Given the description of an element on the screen output the (x, y) to click on. 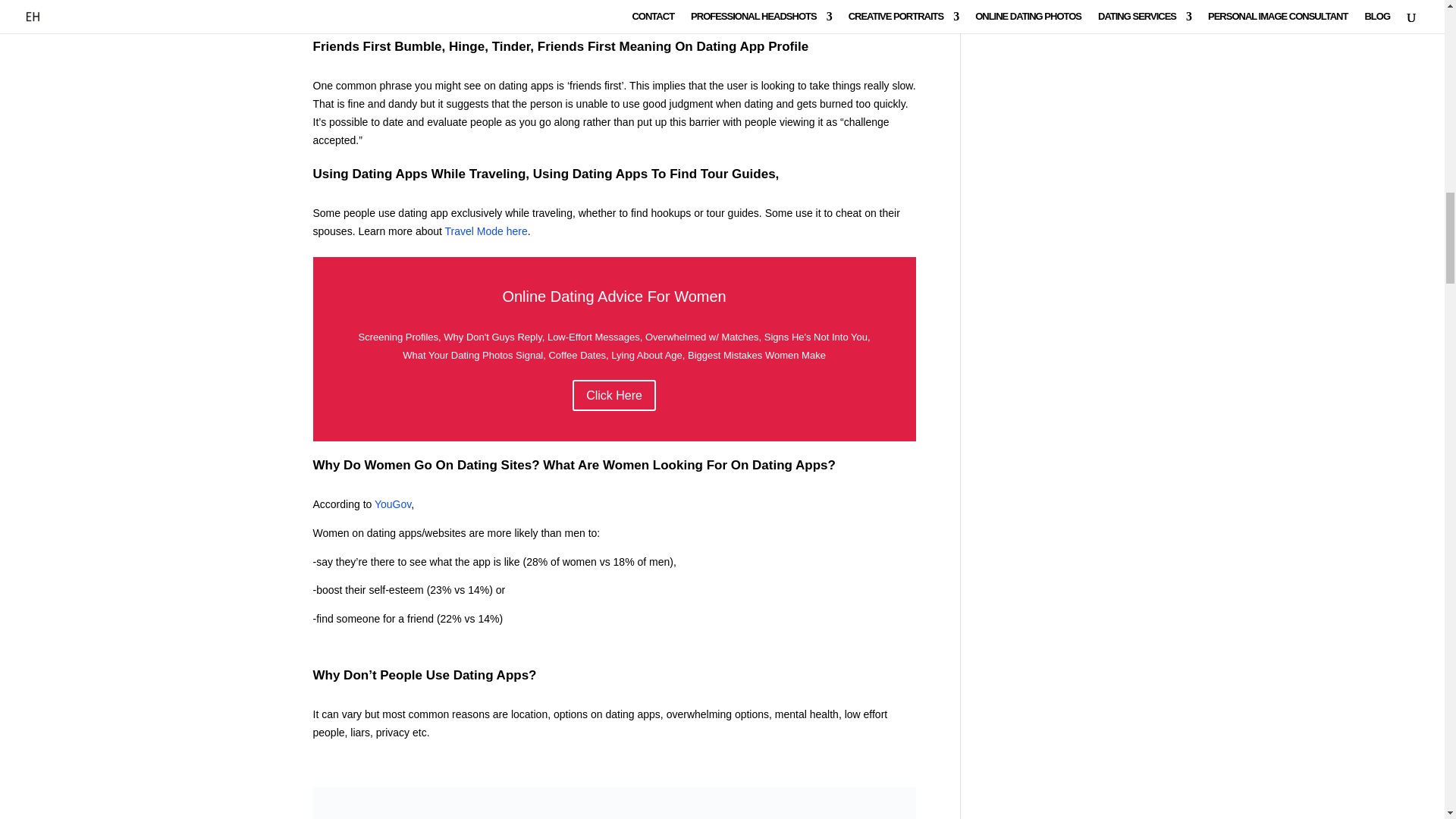
Travel Mode here (486, 231)
YouGov (392, 503)
Click Here (614, 395)
Bumble-Bio-Example-Female-02 (614, 803)
